Given the description of an element on the screen output the (x, y) to click on. 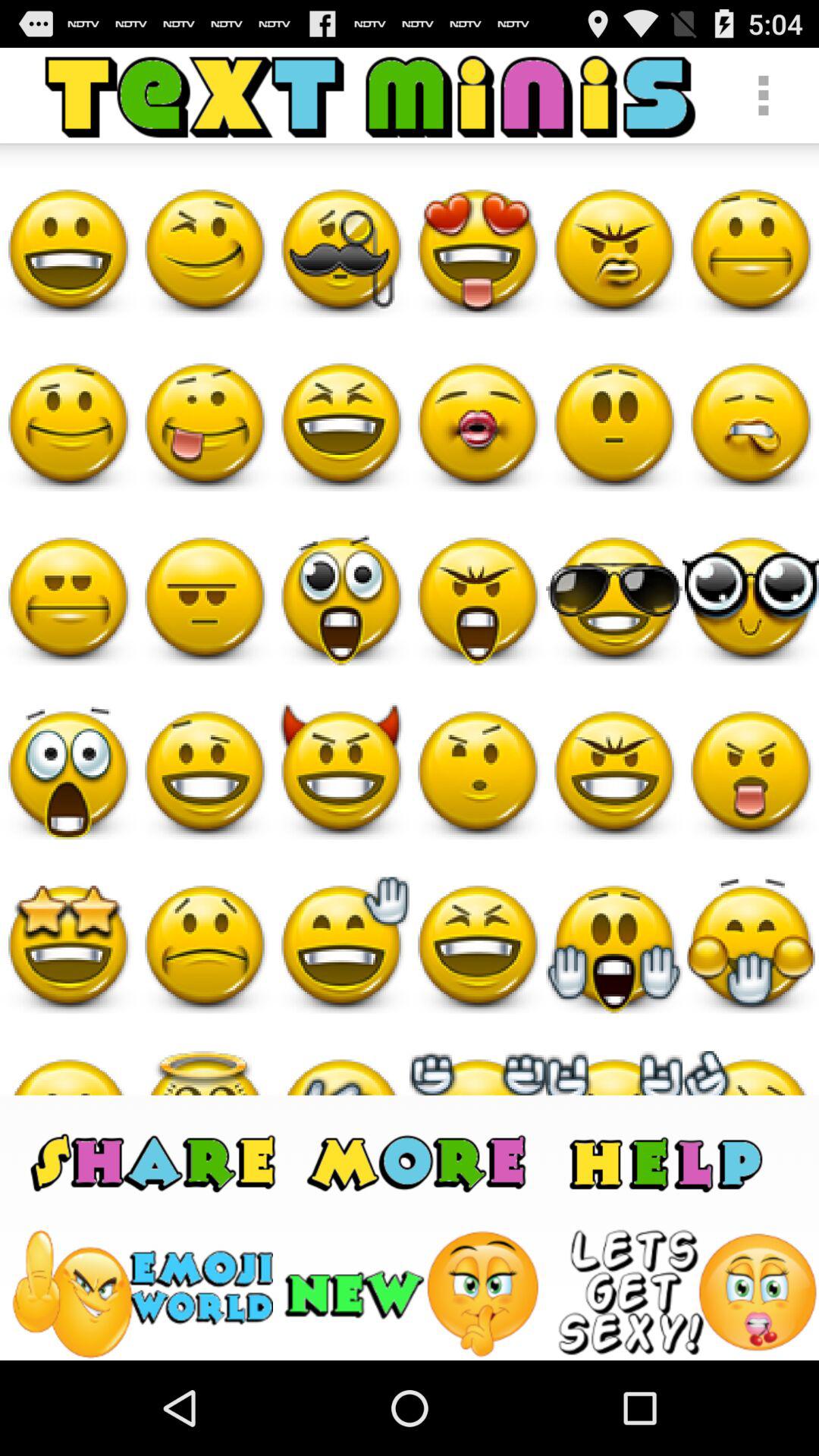
show more emojis (419, 1161)
